Given the description of an element on the screen output the (x, y) to click on. 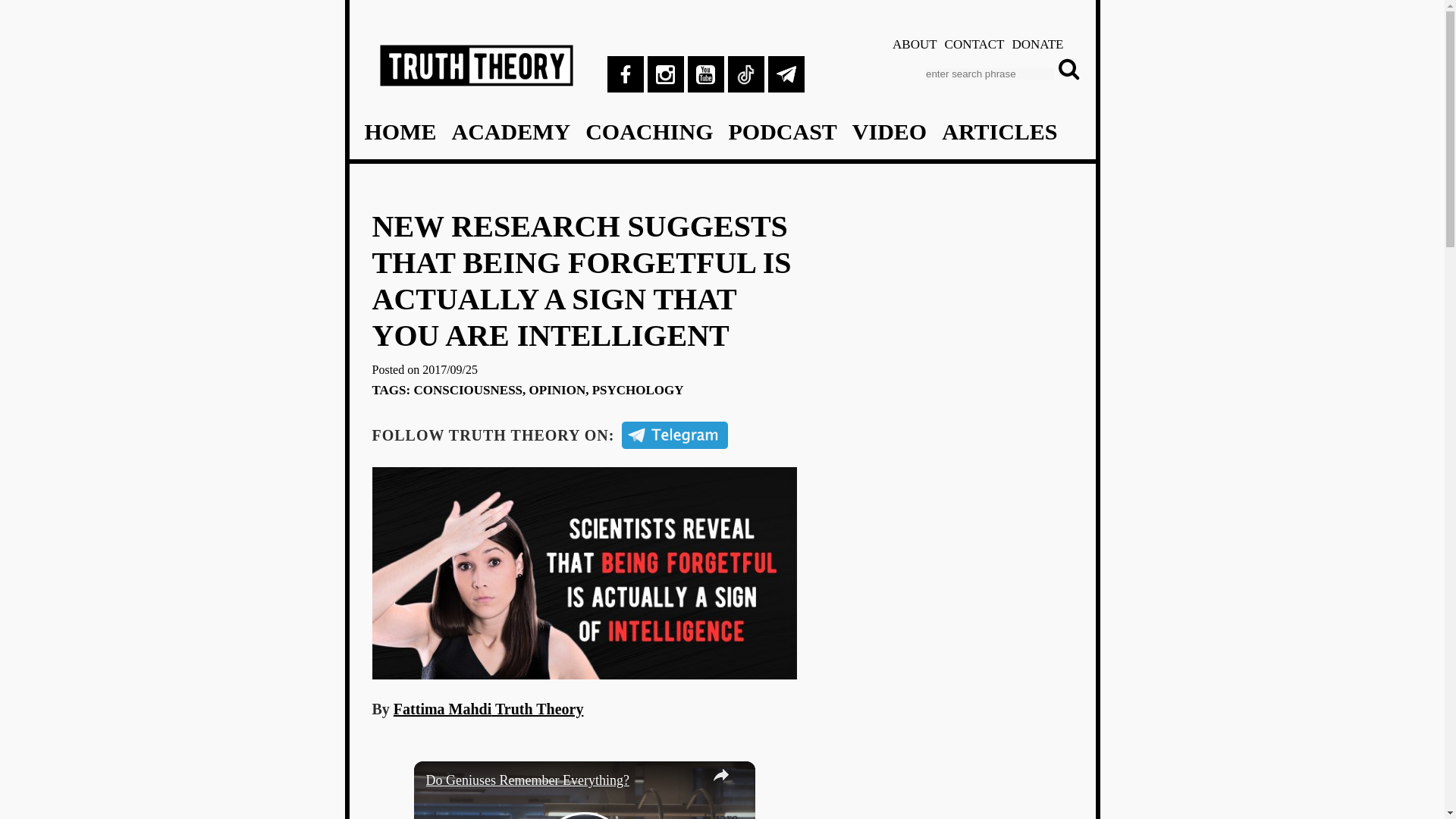
ARTICLES (999, 131)
VIDEO (888, 131)
Truth Teory - Keep Your Mind Open (475, 84)
CONSCIOUSNESS (467, 390)
Instagram (665, 74)
yt (705, 74)
COACHING (649, 131)
Tik Tok (746, 74)
ACADEMY (510, 131)
Tik Tok (746, 74)
Play Video (583, 815)
fb (625, 74)
telegram (785, 74)
Youtube (705, 74)
PODCAST (781, 131)
